Given the description of an element on the screen output the (x, y) to click on. 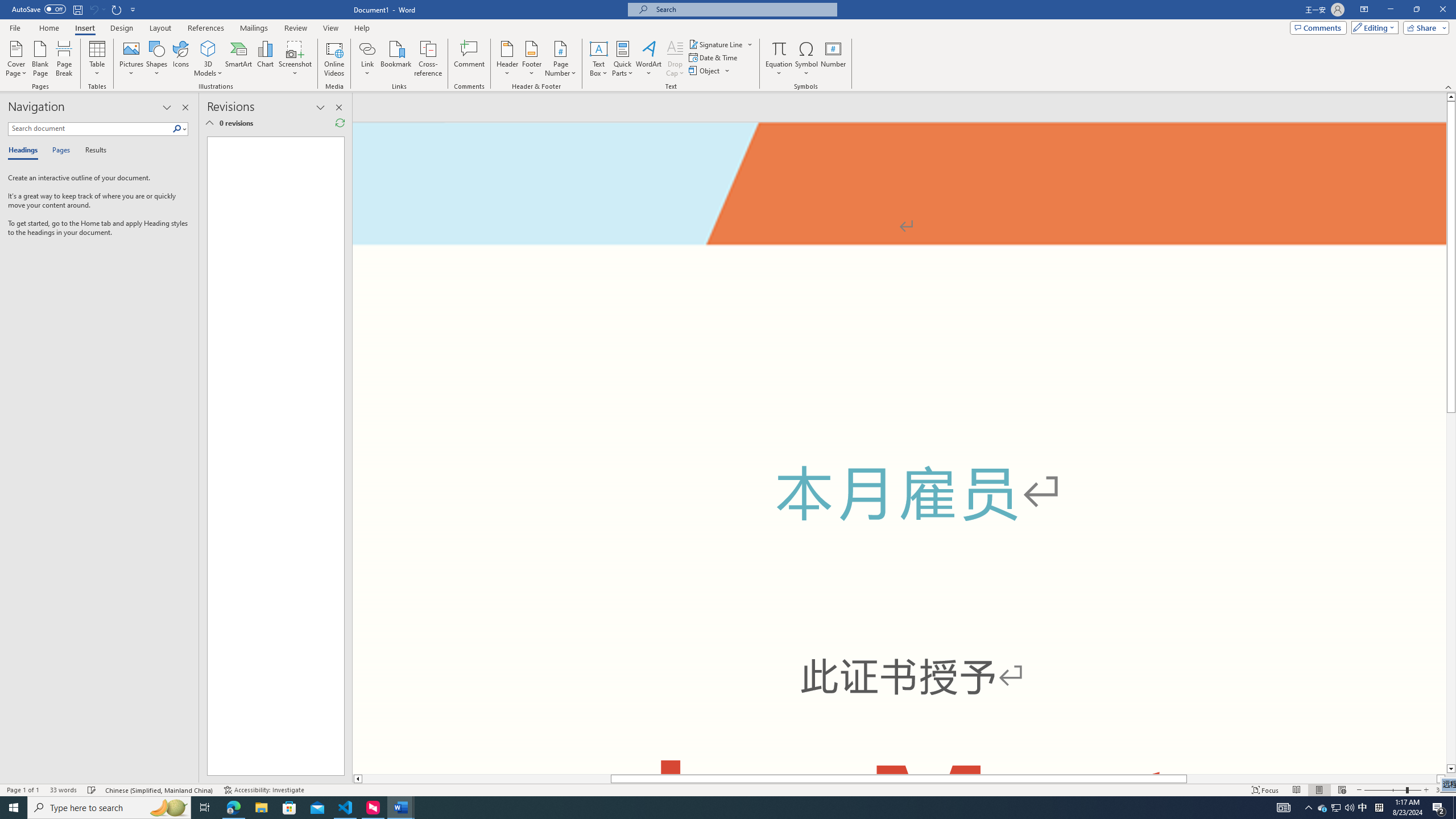
Column right (1441, 778)
Page Break (63, 58)
Results (91, 150)
Number... (833, 58)
Show Detailed Summary (209, 122)
Column left (357, 778)
Icons (180, 58)
Zoom 308% (1443, 790)
Class: MsoCommandBar (728, 789)
Mode (1372, 27)
WordArt (648, 58)
